Given the description of an element on the screen output the (x, y) to click on. 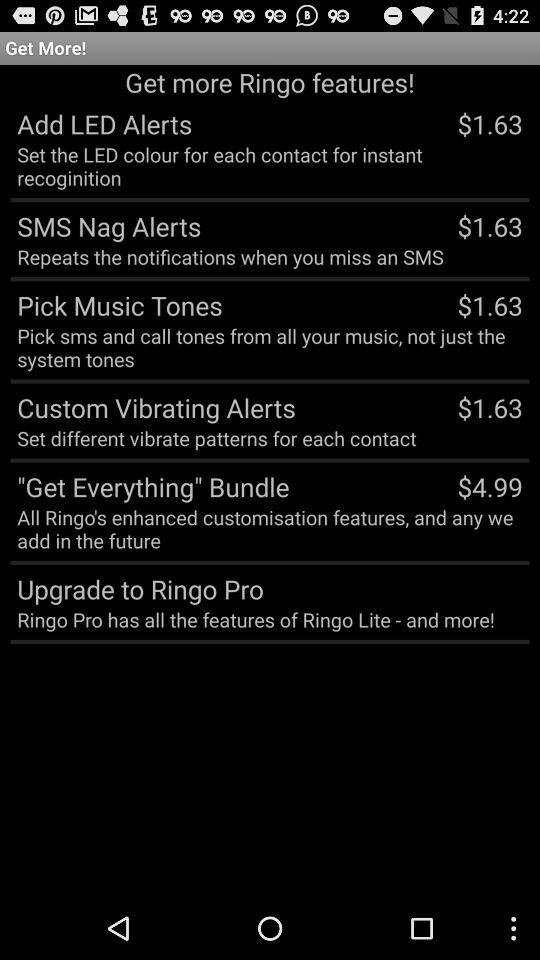
launch the sms nag alerts app (105, 225)
